Given the description of an element on the screen output the (x, y) to click on. 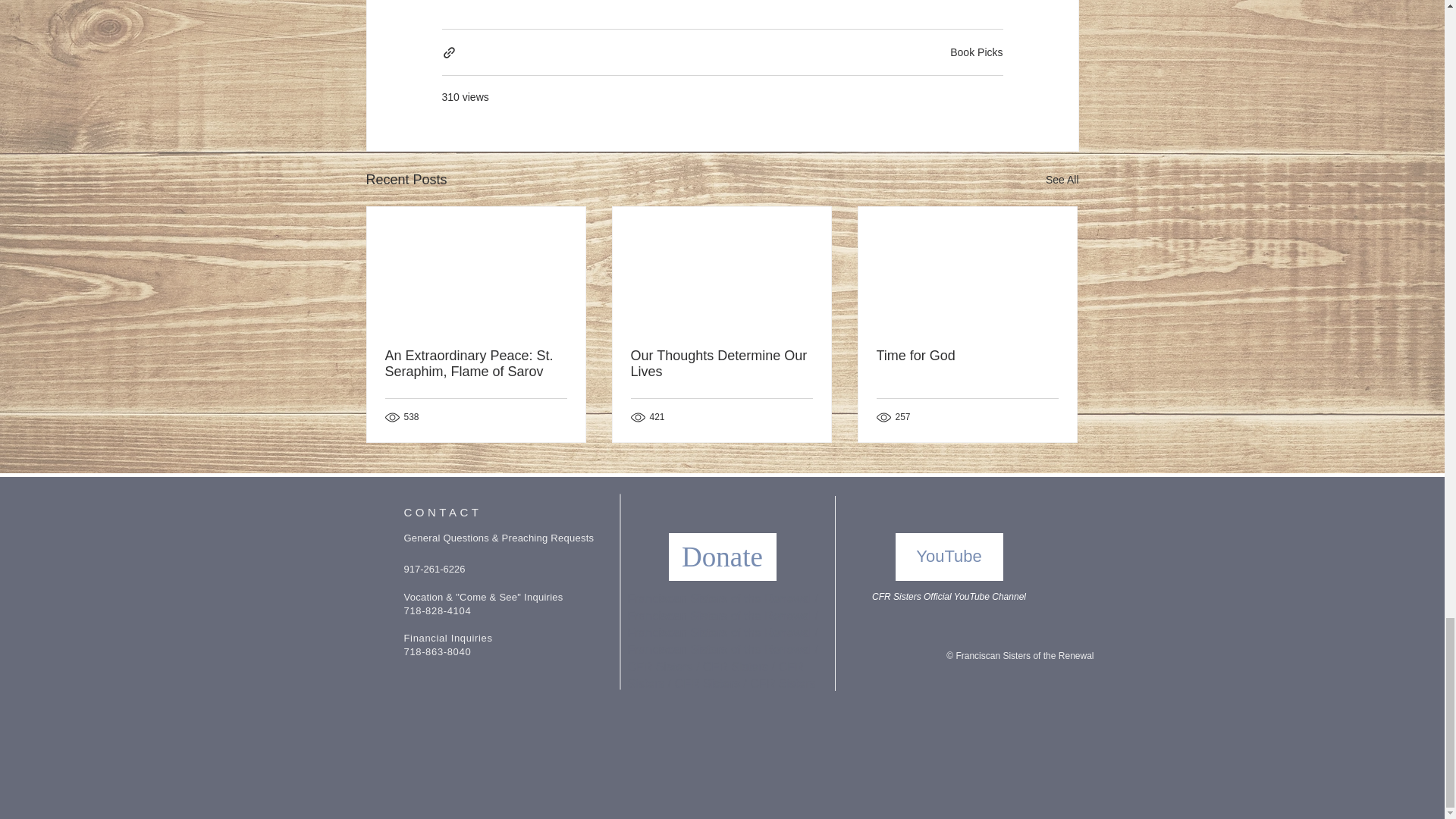
An Extraordinary Peace: St. Seraphim, Flame of Sarov (476, 364)
Book Picks (976, 51)
Time for God (967, 355)
See All (1061, 179)
YouTube (949, 556)
Our Thoughts Determine Our Lives (721, 364)
Donate (722, 556)
